Given the description of an element on the screen output the (x, y) to click on. 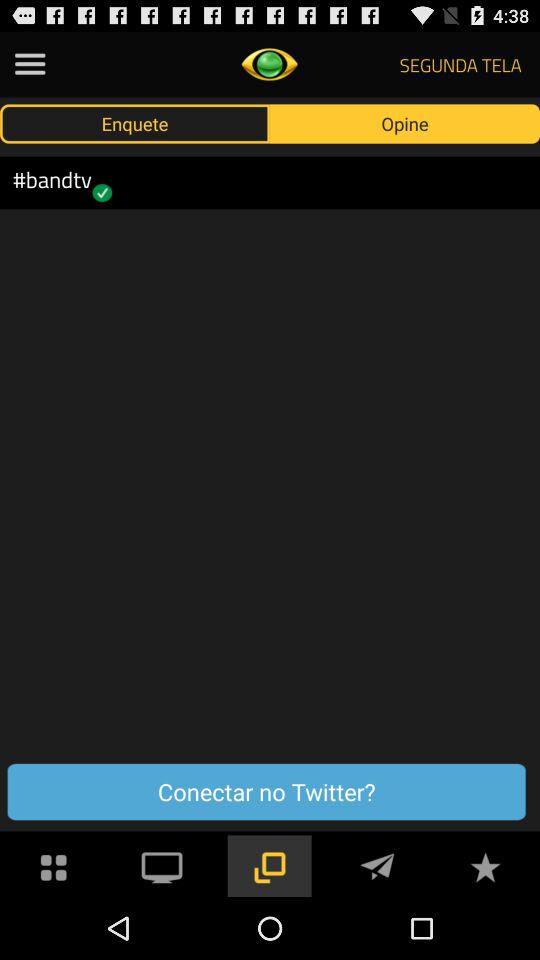
turn on the conectar no twitter? button (266, 791)
